Given the description of an element on the screen output the (x, y) to click on. 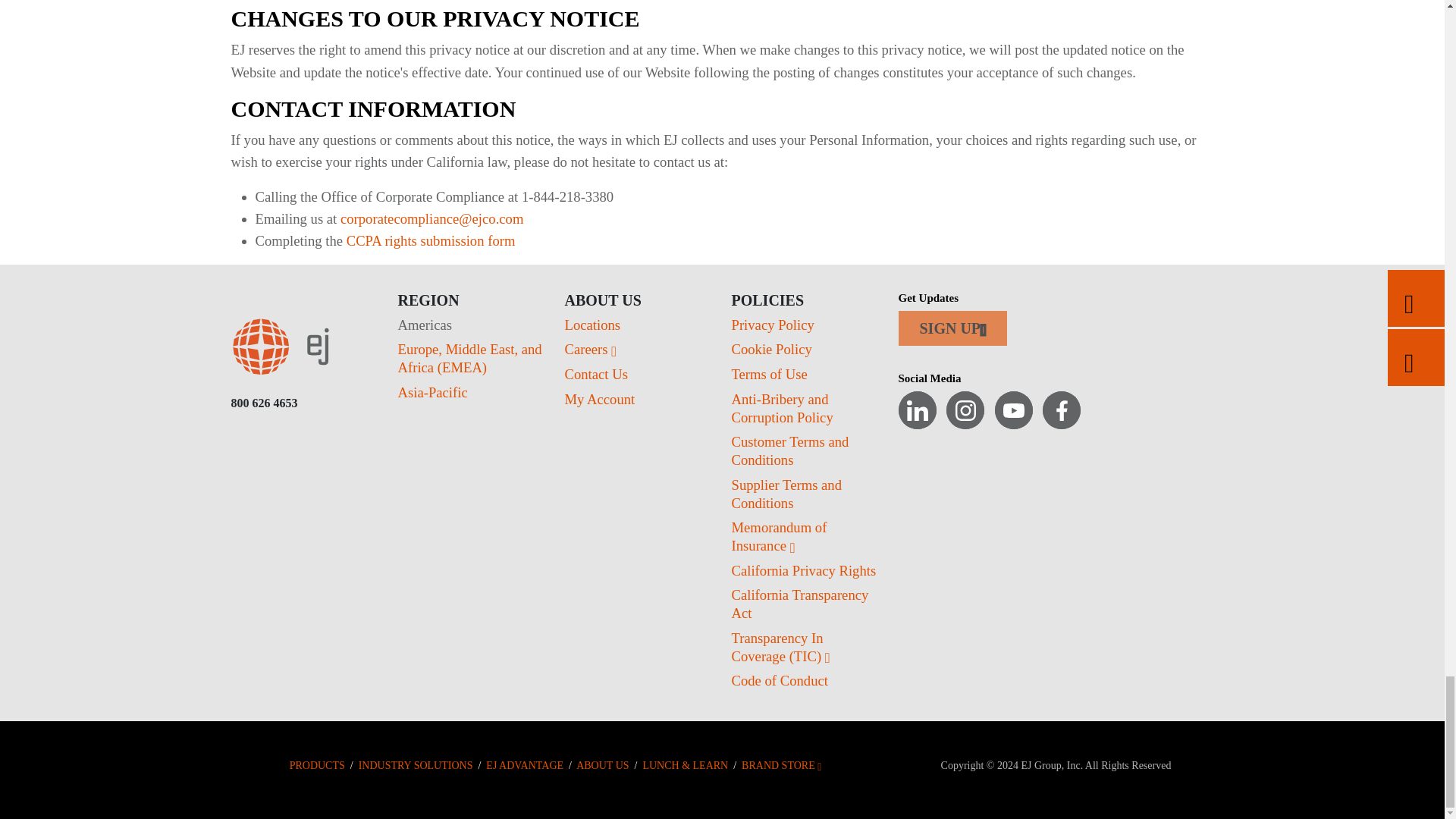
Follow us on Facebook (1061, 410)
Subscribe to us on YouTube (1013, 410)
Follow us on Instagram (965, 410)
Follow us on LinkedIn (917, 410)
